Given the description of an element on the screen output the (x, y) to click on. 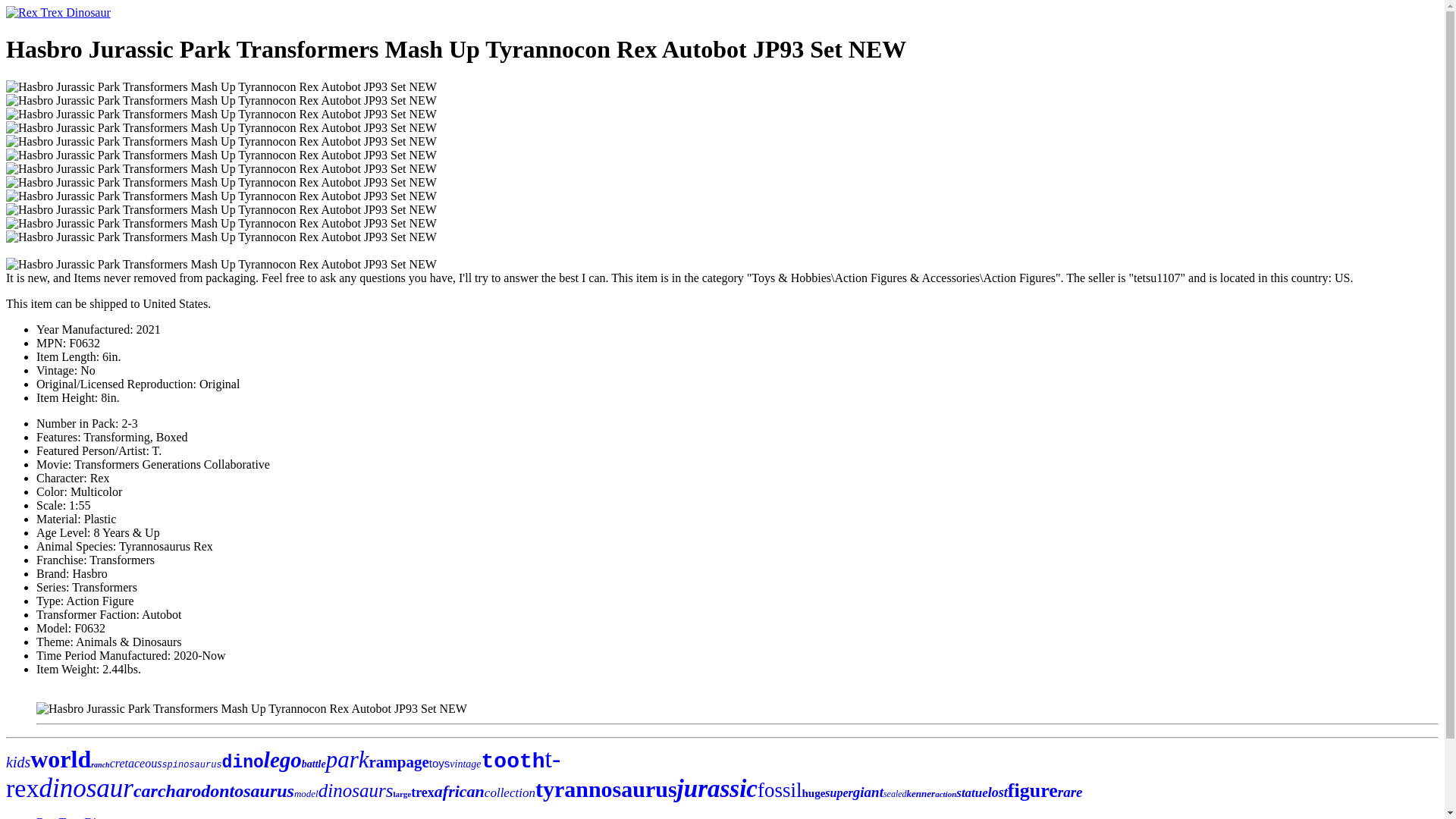
tyrannosaurus (606, 788)
kids (17, 761)
dinosaurs (355, 790)
park (347, 759)
lego (282, 759)
tooth (512, 761)
dinosaur (85, 788)
